Given the description of an element on the screen output the (x, y) to click on. 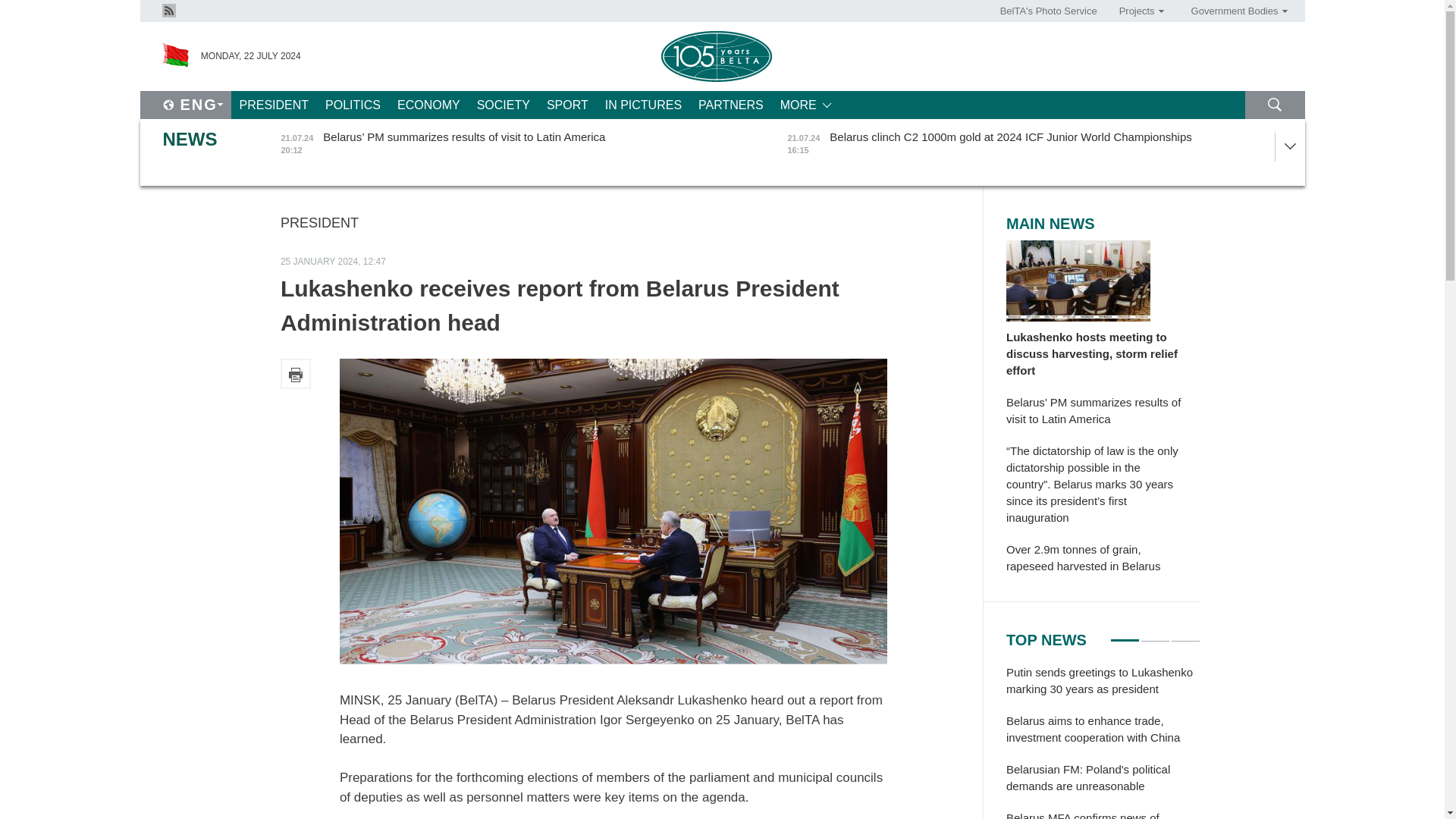
Rss (168, 10)
Government Bodies (1233, 11)
BelTA's Photo Service (1048, 11)
Projects (1136, 11)
Rss (167, 9)
Government Bodies (1233, 11)
BelTA's Photo Service (1048, 11)
Projects (1136, 11)
